Given the description of an element on the screen output the (x, y) to click on. 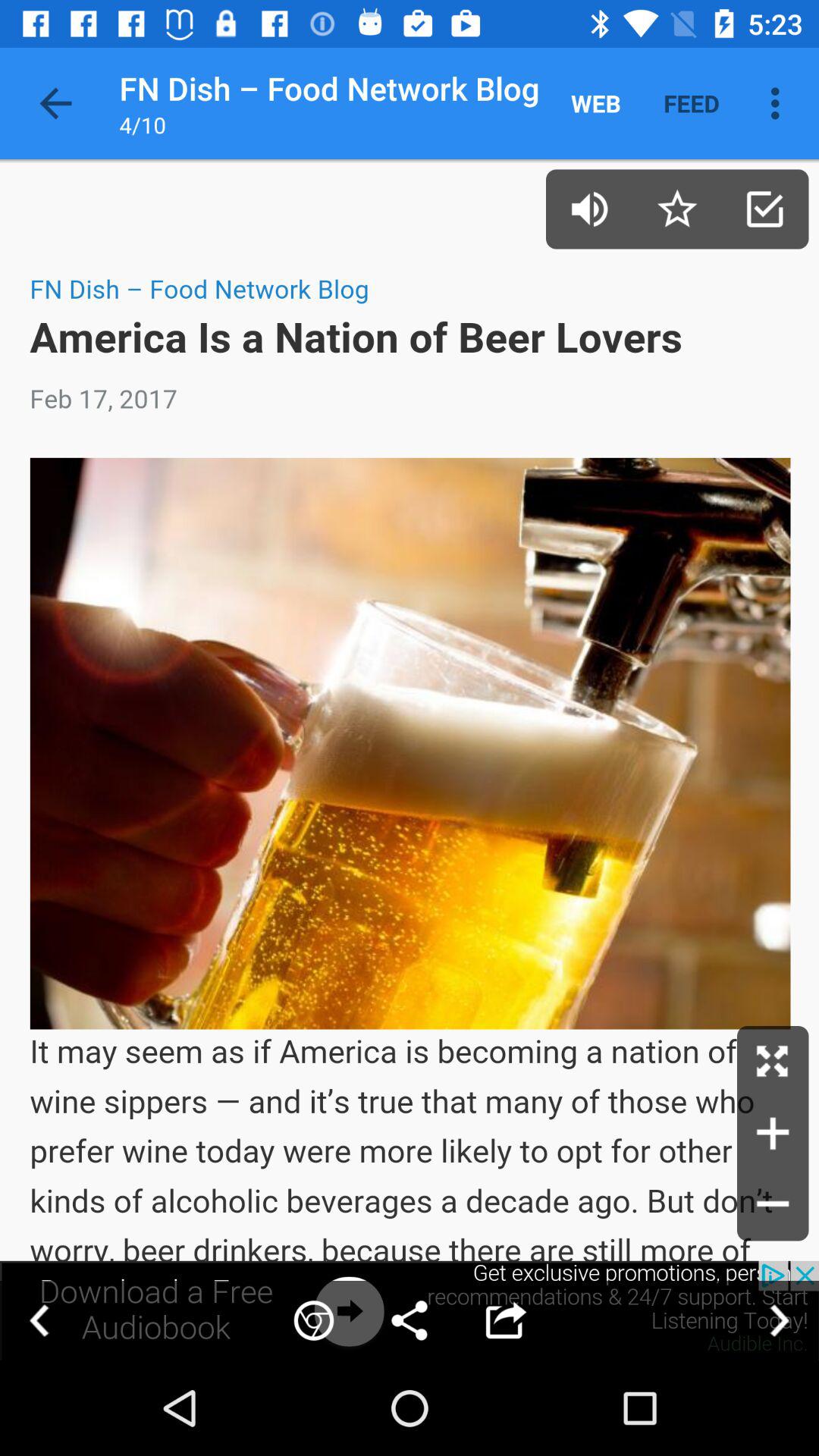
zoom in on the image (772, 1133)
